Given the description of an element on the screen output the (x, y) to click on. 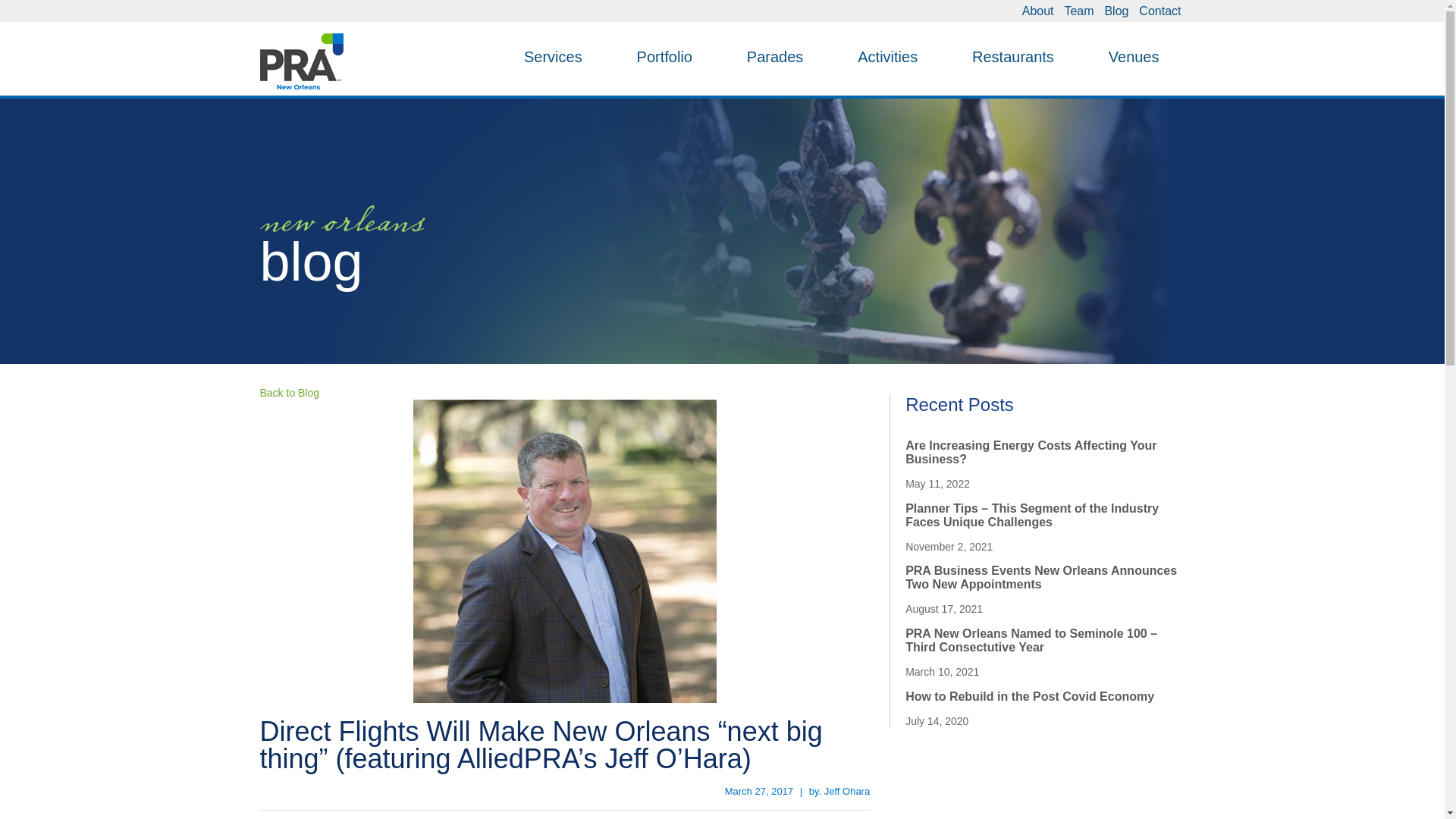
How to Rebuild in the Post Covid Economy (1029, 696)
Parades (774, 56)
About (1037, 11)
Blog (1116, 11)
Portfolio (664, 56)
Activities (887, 56)
PRA New Orleans (300, 61)
Team (1078, 11)
Back to Blog (288, 392)
Services (552, 56)
